Given the description of an element on the screen output the (x, y) to click on. 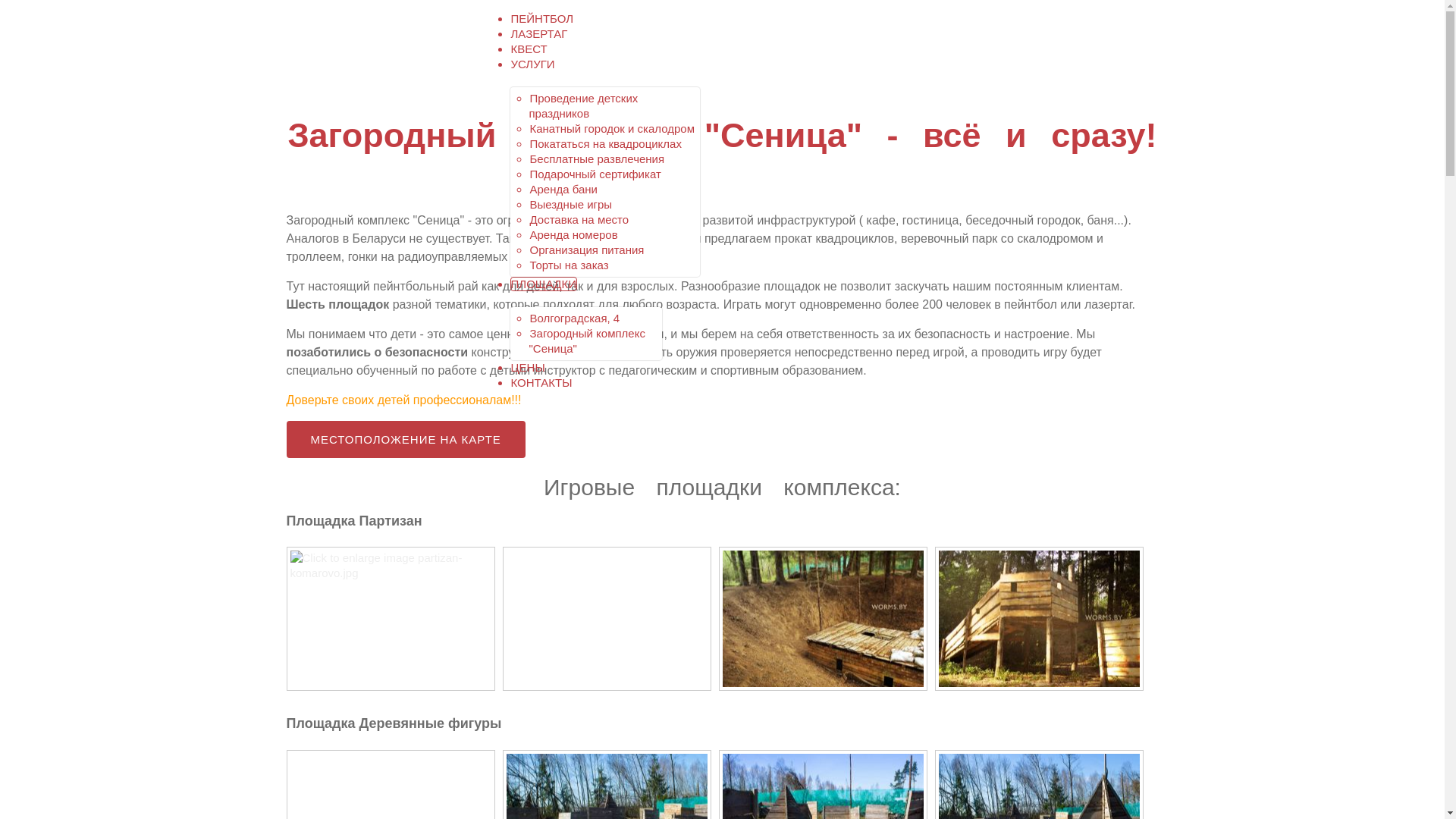
Click to enlarge image ploschadka-dlya-lazertaga.jpg Element type: hover (1038, 618)
Click to enlarge image partizan-komarovo.jpg Element type: hover (389, 618)
Click to enlarge image partizan.jpg Element type: hover (821, 618)
